Given the description of an element on the screen output the (x, y) to click on. 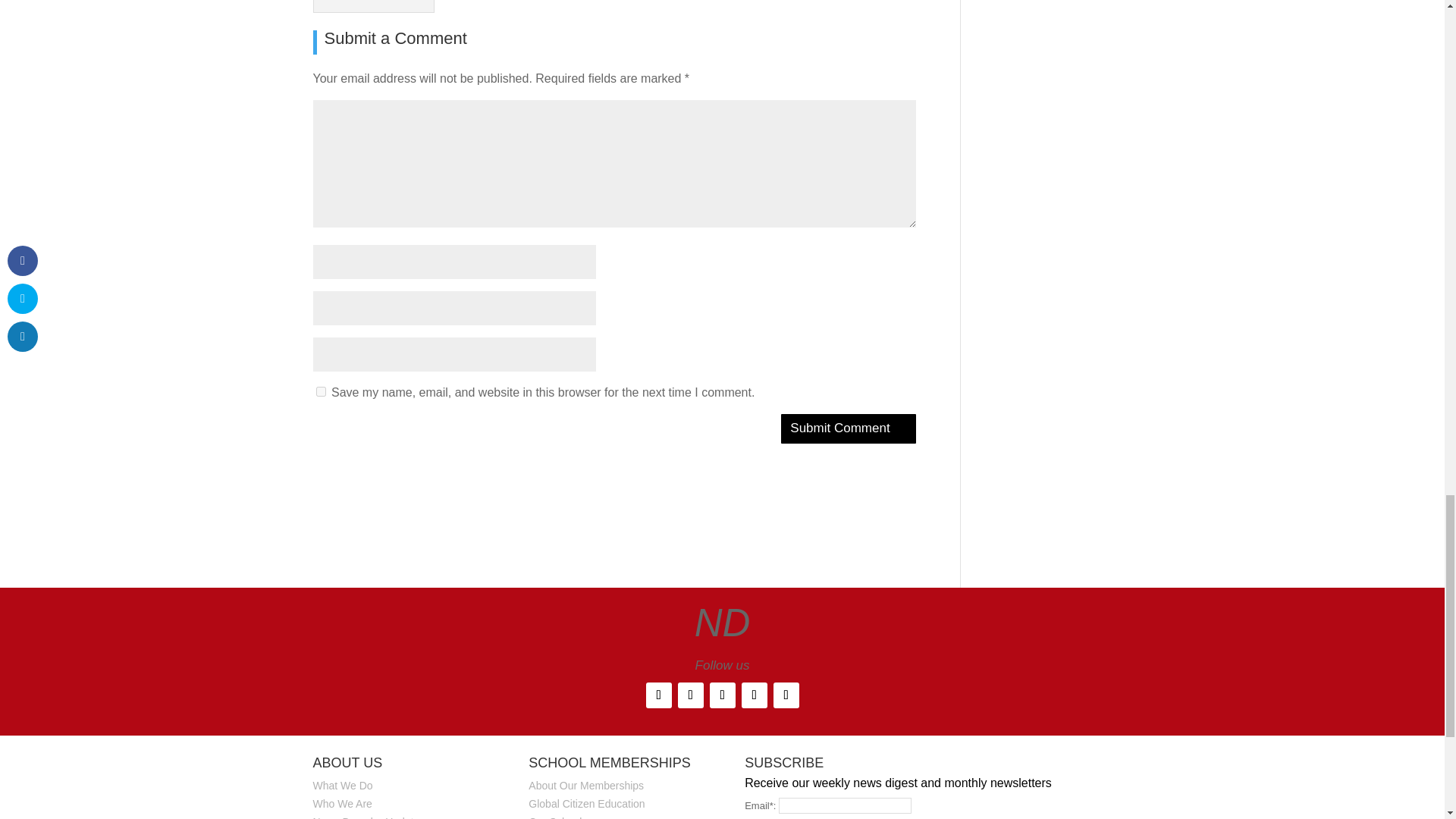
yes (319, 391)
Follow on X (690, 695)
Follow on LinkedIn (754, 695)
Follow on Facebook (658, 695)
Follow on Youtube (786, 695)
Submit Comment (847, 428)
Follow on Instagram (722, 695)
